Given the description of an element on the screen output the (x, y) to click on. 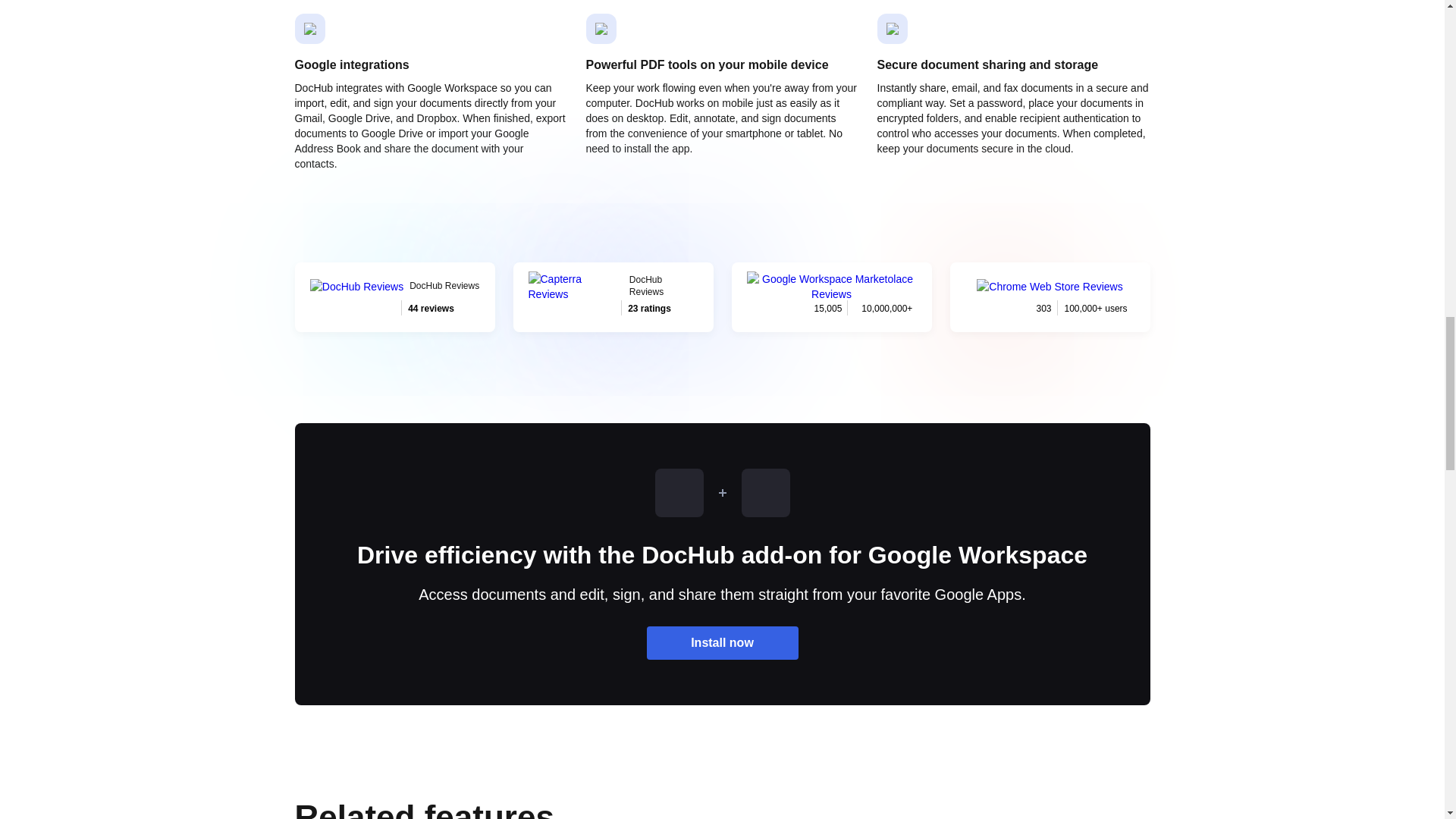
Install now (721, 643)
